Given the description of an element on the screen output the (x, y) to click on. 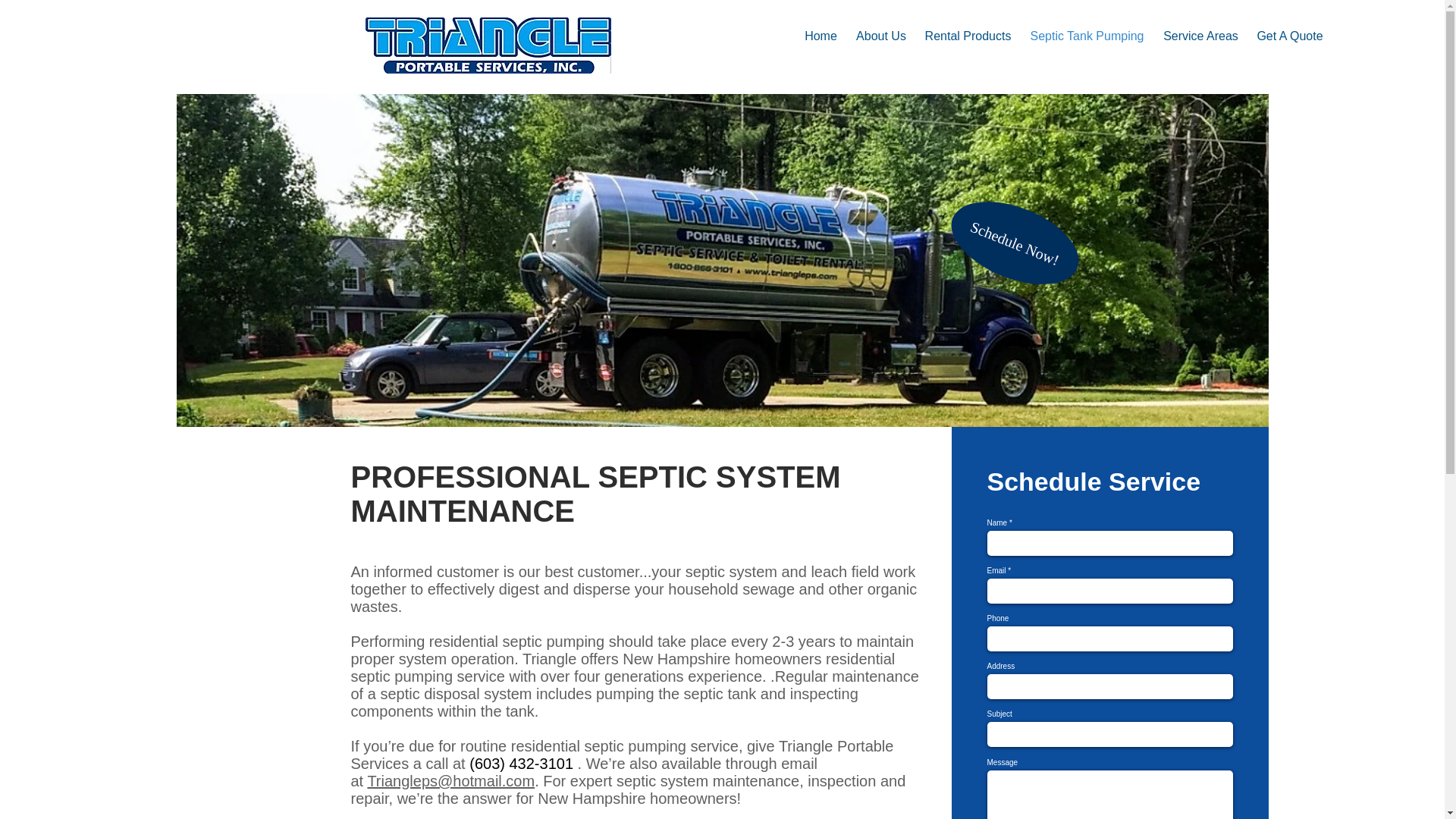
Septic Tank Pumping (1087, 36)
Rental Products (967, 36)
Home (819, 36)
Service Areas (1200, 36)
About Us (880, 36)
Schedule Now! (1006, 220)
Get A Quote (1289, 36)
